Given the description of an element on the screen output the (x, y) to click on. 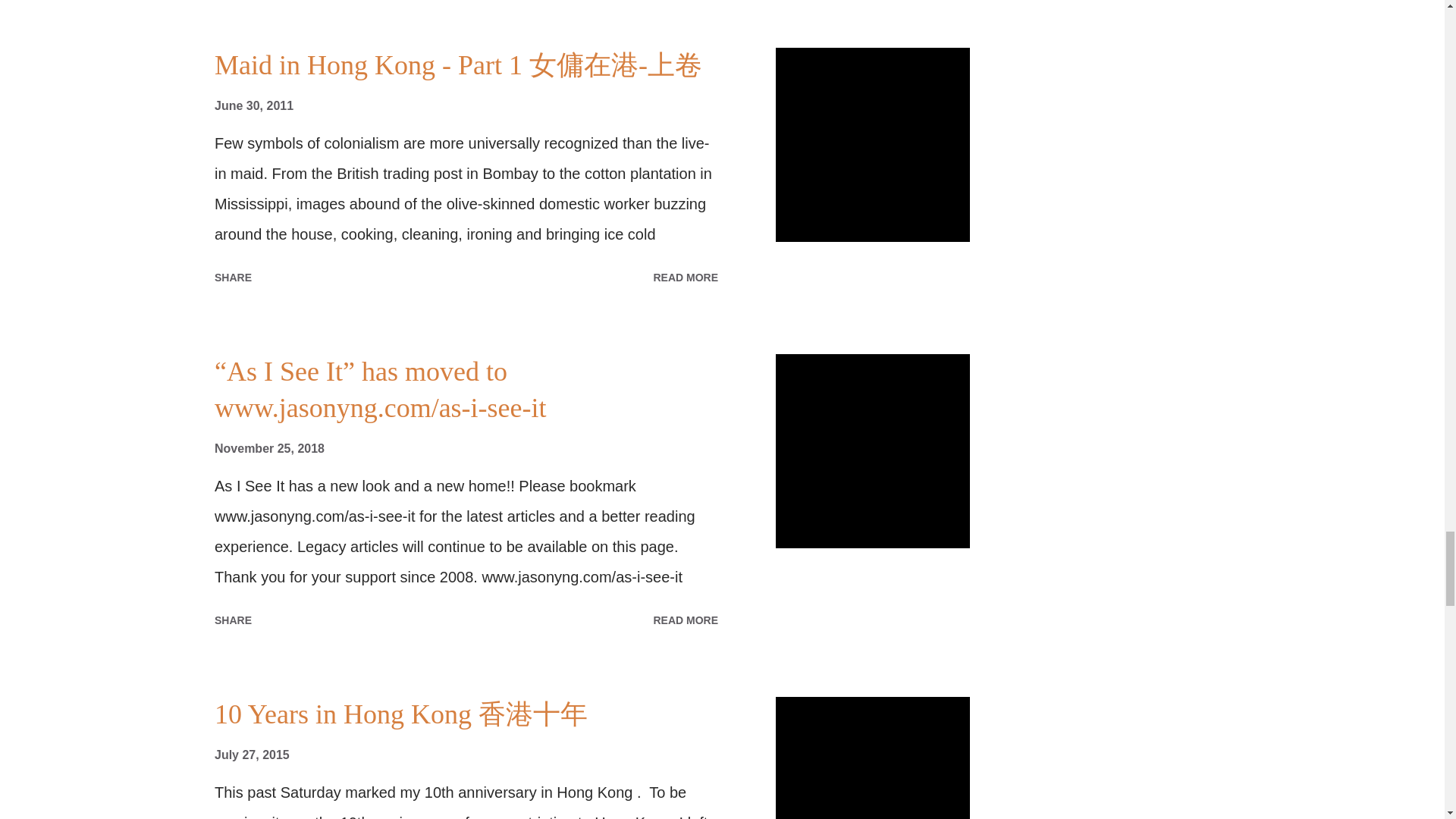
READ MORE (684, 277)
READ MORE (684, 620)
November 25, 2018 (269, 448)
SHARE (232, 277)
June 30, 2011 (254, 105)
SHARE (232, 620)
